Given the description of an element on the screen output the (x, y) to click on. 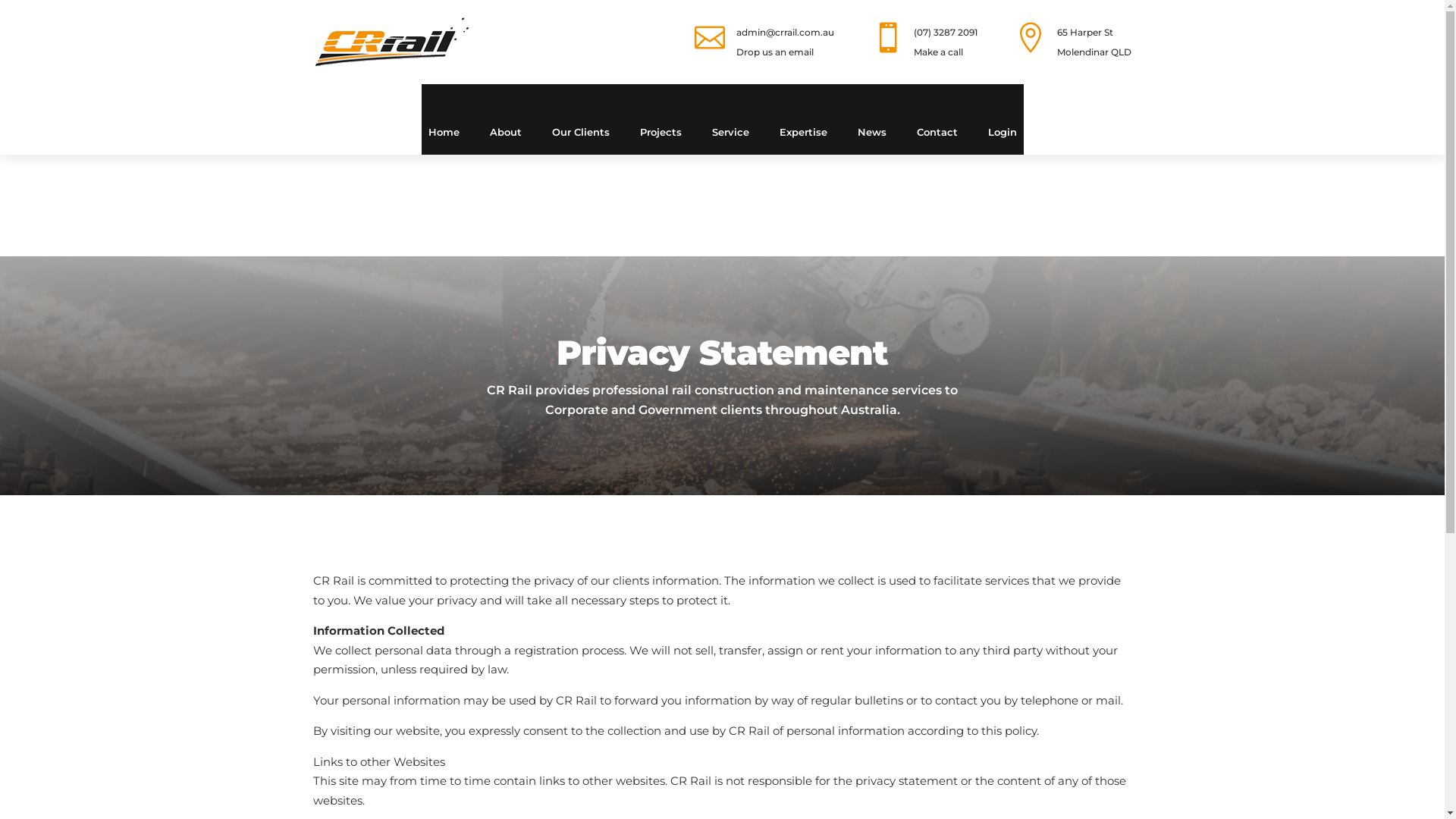
Expertise Element type: text (803, 131)
Home Element type: text (442, 131)
Projects Element type: text (660, 131)
Service Element type: text (729, 131)
News Element type: text (870, 131)
Our Clients Element type: text (580, 131)
Login Element type: text (1001, 131)
About Element type: text (505, 131)
Contact Element type: text (936, 131)
